Given the description of an element on the screen output the (x, y) to click on. 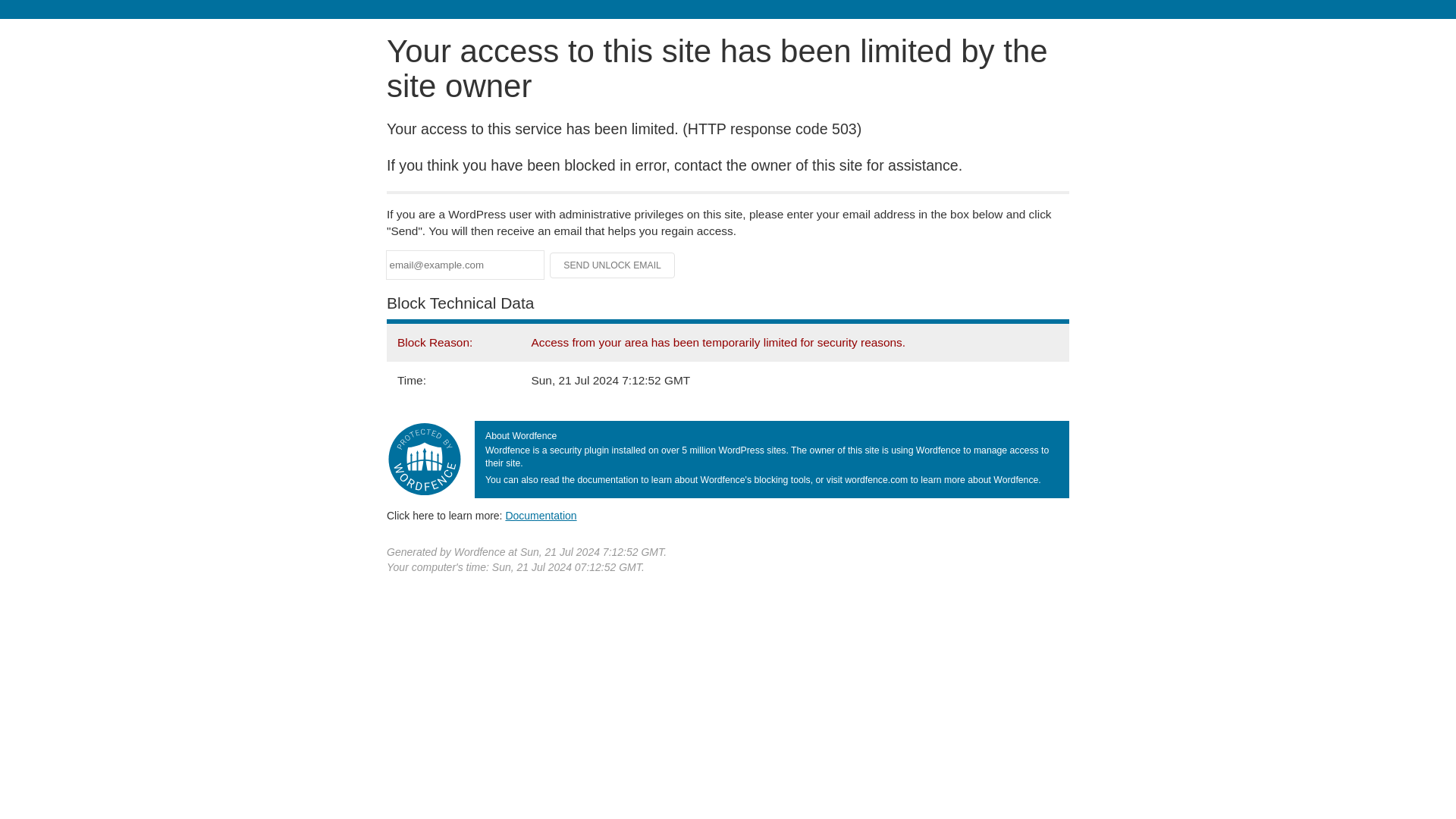
Send Unlock Email (612, 265)
Documentation (540, 515)
Send Unlock Email (612, 265)
